Given the description of an element on the screen output the (x, y) to click on. 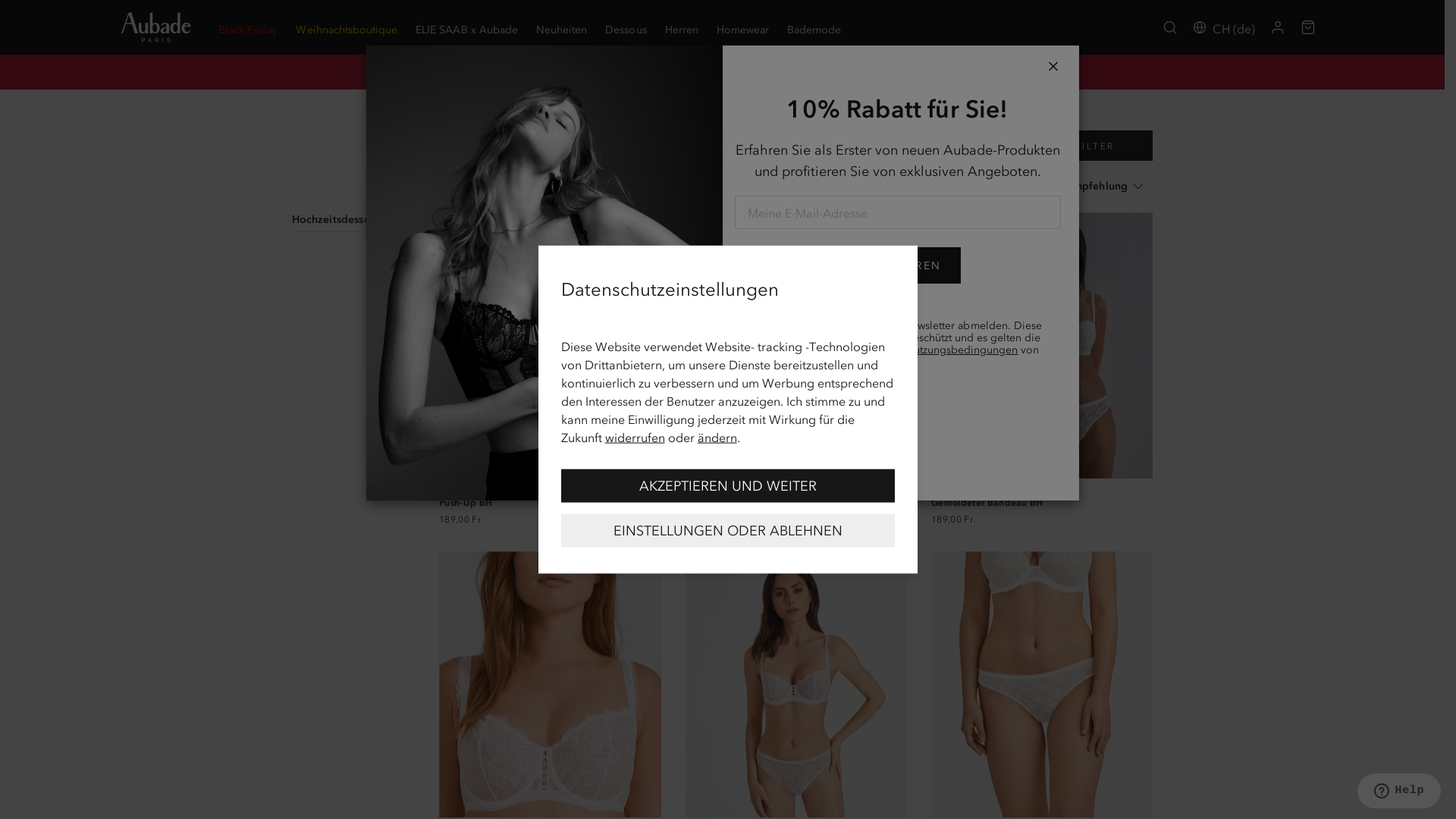
Dessous Element type: text (625, 27)
POUR TOUJOURS
Gemoldeter Bandeau BH Element type: text (1041, 493)
Empfehlung Element type: text (1096, 186)
POUR TOUJOURS Element type: hover (795, 345)
Mein Konto Element type: hover (1277, 27)
widerrufen Element type: text (635, 436)
EINSTELLUNGEN ODER ABLEHNEN Element type: text (727, 529)
AKZEPTIEREN UND WEITER Element type: text (727, 485)
Herren Element type: text (681, 27)
ELIE SAAB x Aubade Element type: text (466, 27)
POUR TOUJOURS Element type: hover (549, 684)
POUR TOUJOURS Element type: hover (549, 345)
Opens a widget where you can find more information Element type: hover (1398, 792)
Homewear Element type: text (742, 27)
Jetzt Shoppen Element type: text (1021, 71)
Nutzungsbedingungen Element type: text (961, 349)
Startseite Element type: text (459, 116)
FILTER Element type: text (1083, 145)
Black Friday Element type: text (247, 27)
Am Model Element type: text (512, 185)
POUR TOUJOURS
Push-Up BH Element type: text (549, 493)
Auswahl Element type: text (575, 116)
Produkt Element type: text (594, 185)
CH (de) Element type: text (1223, 27)
Weihnachtsboutique Element type: text (346, 27)
POUR TOUJOURS Element type: hover (1041, 345)
Neuheiten Element type: text (561, 27)
Bademode Element type: text (813, 27)
Dessous Element type: text (518, 116)
ABONNIEREN Element type: text (897, 265)
POUR TOUJOURS Element type: hover (1041, 684)
POUR TOUJOURS Element type: hover (795, 684)
